Given the description of an element on the screen output the (x, y) to click on. 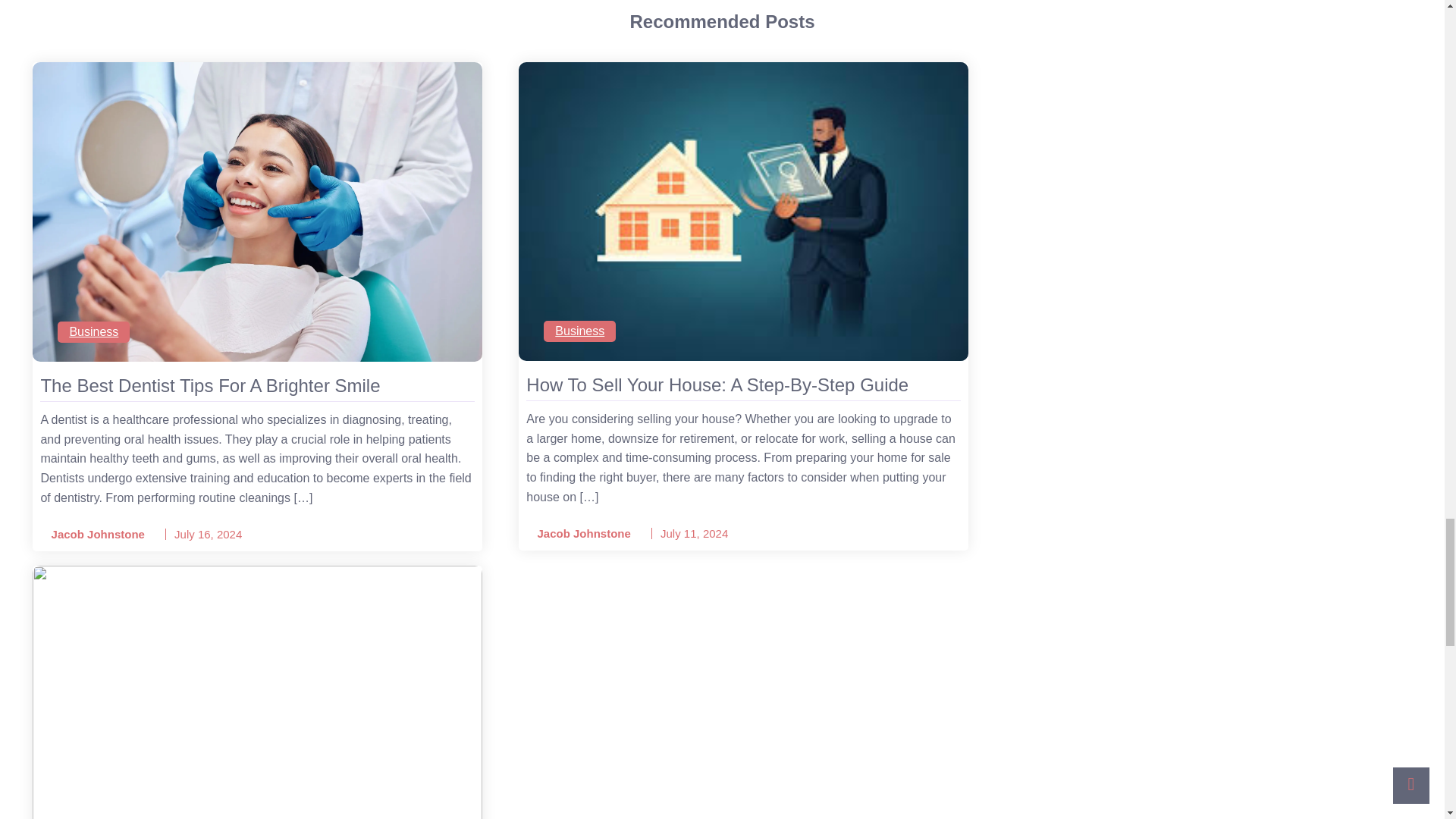
Jacob Johnstone (577, 533)
Business (579, 331)
July 16, 2024 (207, 533)
Business (93, 332)
How To Sell Your House: A Step-By-Step Guide (742, 385)
The Best Dentist Tips For A Brighter Smile (257, 385)
Jacob Johnstone (92, 534)
July 11, 2024 (694, 533)
